Given the description of an element on the screen output the (x, y) to click on. 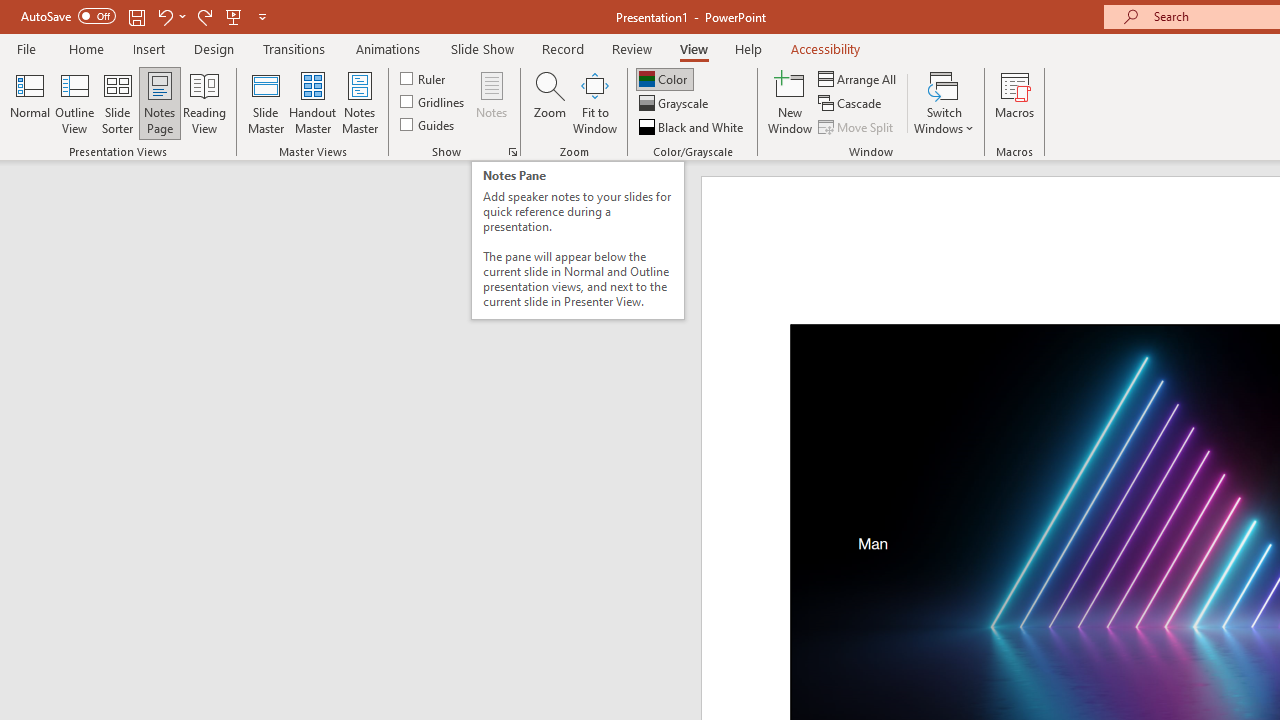
Black and White (693, 126)
